Given the description of an element on the screen output the (x, y) to click on. 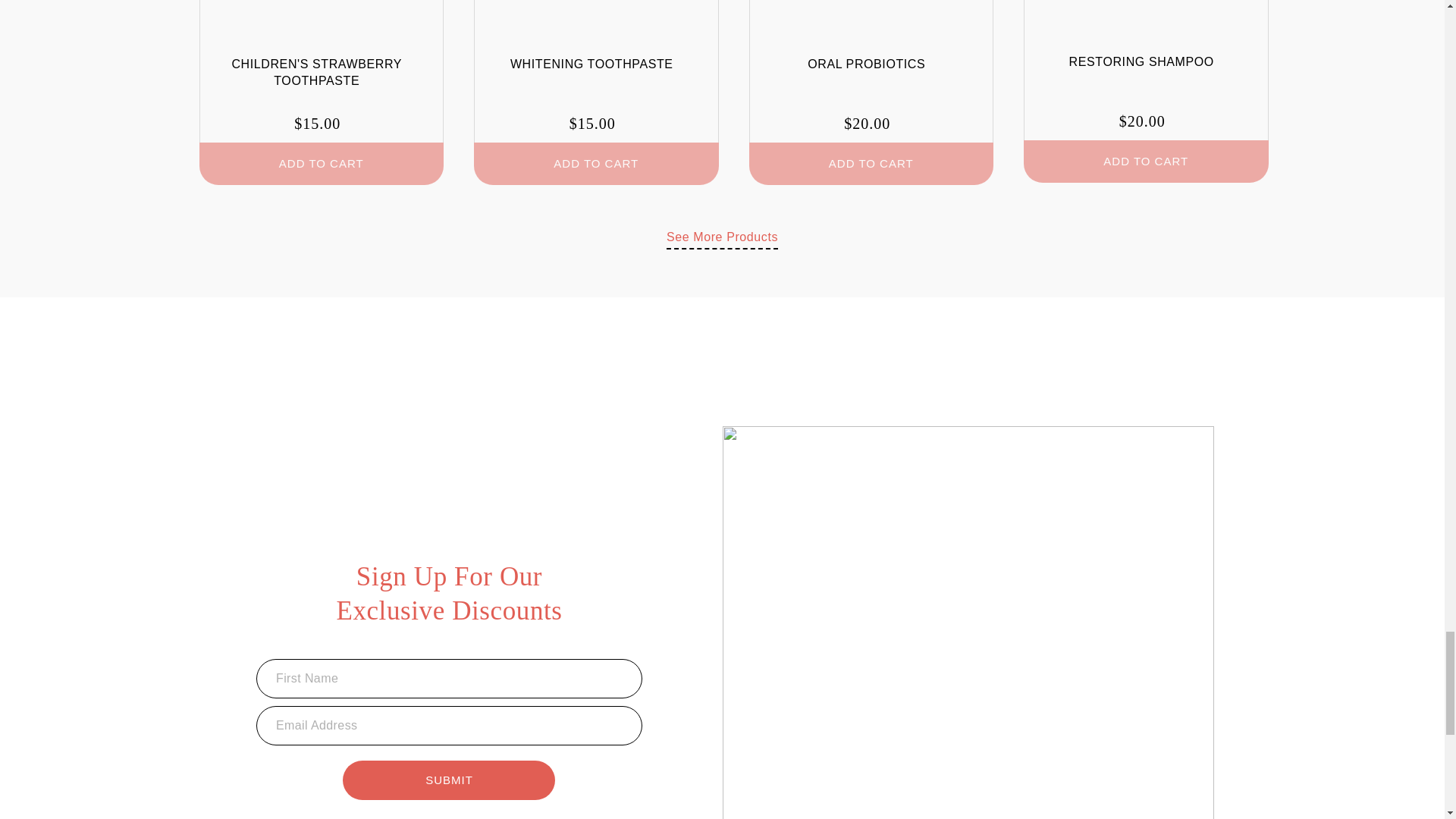
Add to cart (321, 163)
Add to cart (1145, 161)
Add to cart (871, 163)
Add to cart (596, 163)
